Given the description of an element on the screen output the (x, y) to click on. 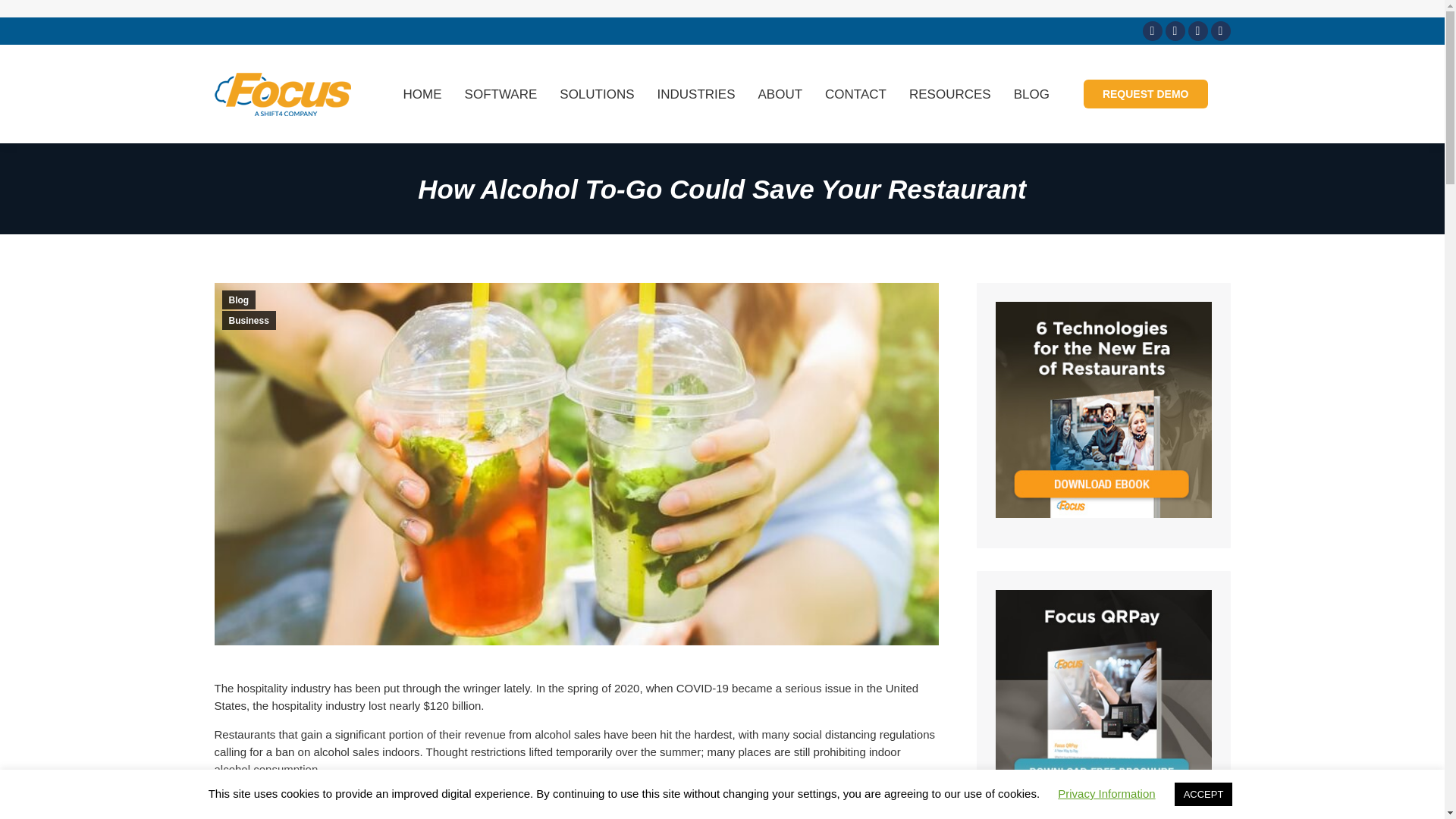
SOLUTIONS (596, 94)
INDUSTRIES (696, 94)
ABOUT (779, 94)
Facebook page opens in new window (1151, 30)
Facebook page opens in new window (1151, 30)
Linkedin page opens in new window (1197, 30)
YouTube page opens in new window (1219, 30)
YouTube page opens in new window (1219, 30)
Twitter page opens in new window (1174, 30)
Linkedin page opens in new window (1197, 30)
SOFTWARE (500, 94)
HOME (421, 94)
Twitter page opens in new window (1174, 30)
